Given the description of an element on the screen output the (x, y) to click on. 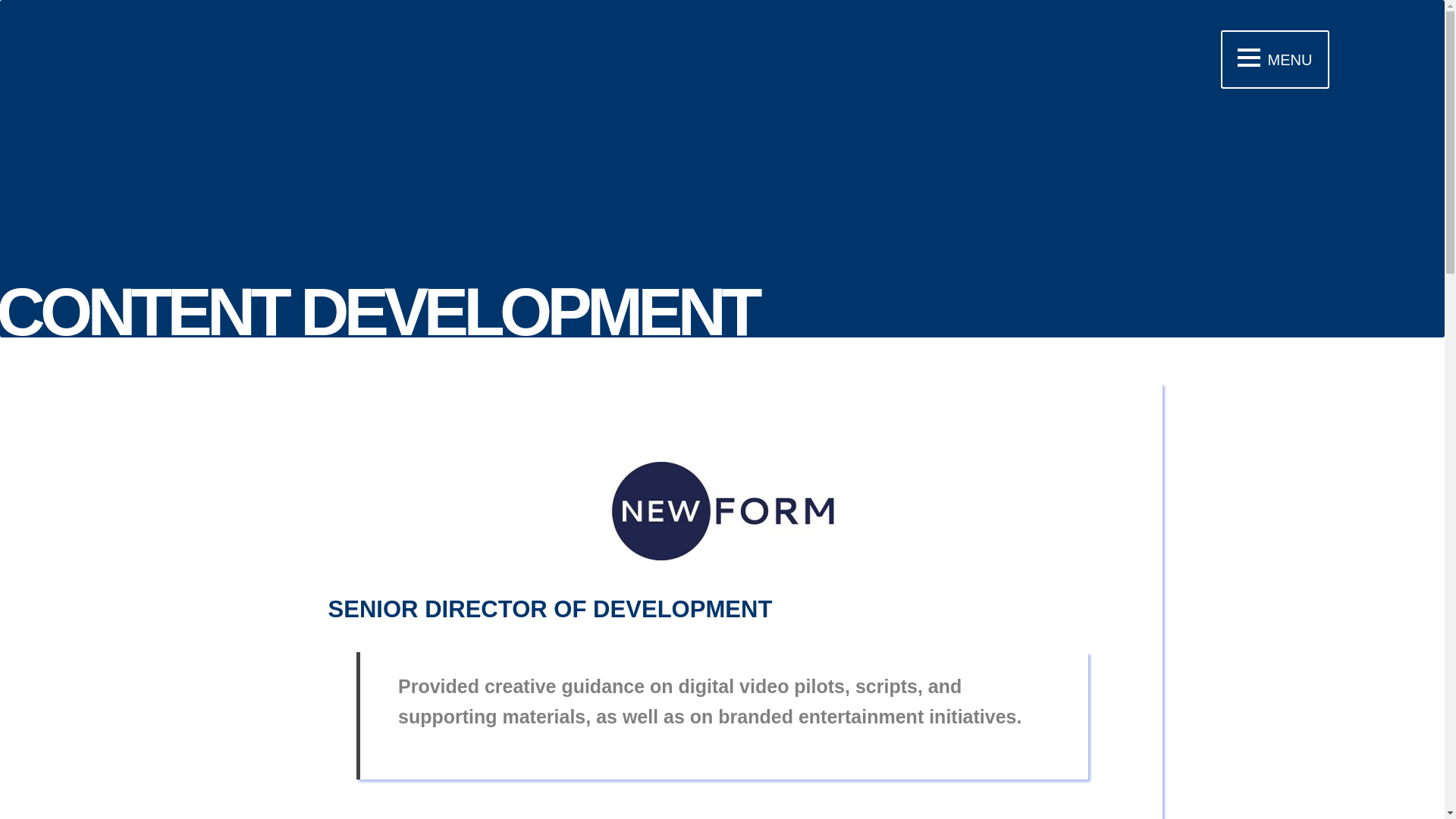
MENU (1275, 59)
